Given the description of an element on the screen output the (x, y) to click on. 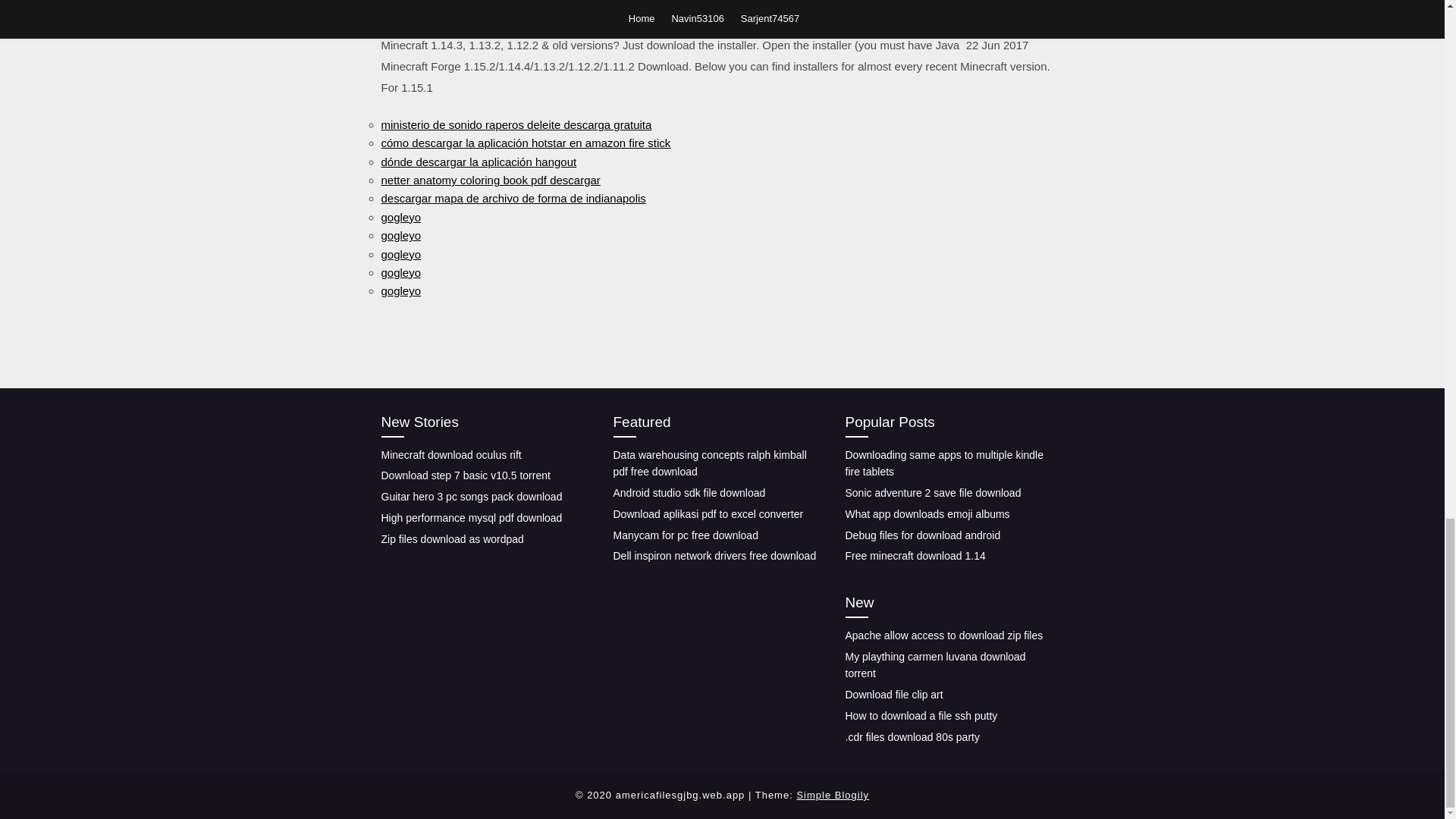
Free minecraft download 1.14 (914, 555)
Android studio sdk file download (688, 492)
Dell inspiron network drivers free download (713, 555)
gogleyo (400, 216)
Guitar hero 3 pc songs pack download (471, 496)
descargar mapa de archivo de forma de indianapolis (512, 197)
ministerio de sonido raperos deleite descarga gratuita (515, 124)
.cdr files download 80s party (911, 736)
Manycam for pc free download (684, 534)
My plaything carmen luvana download torrent (934, 665)
